Given the description of an element on the screen output the (x, y) to click on. 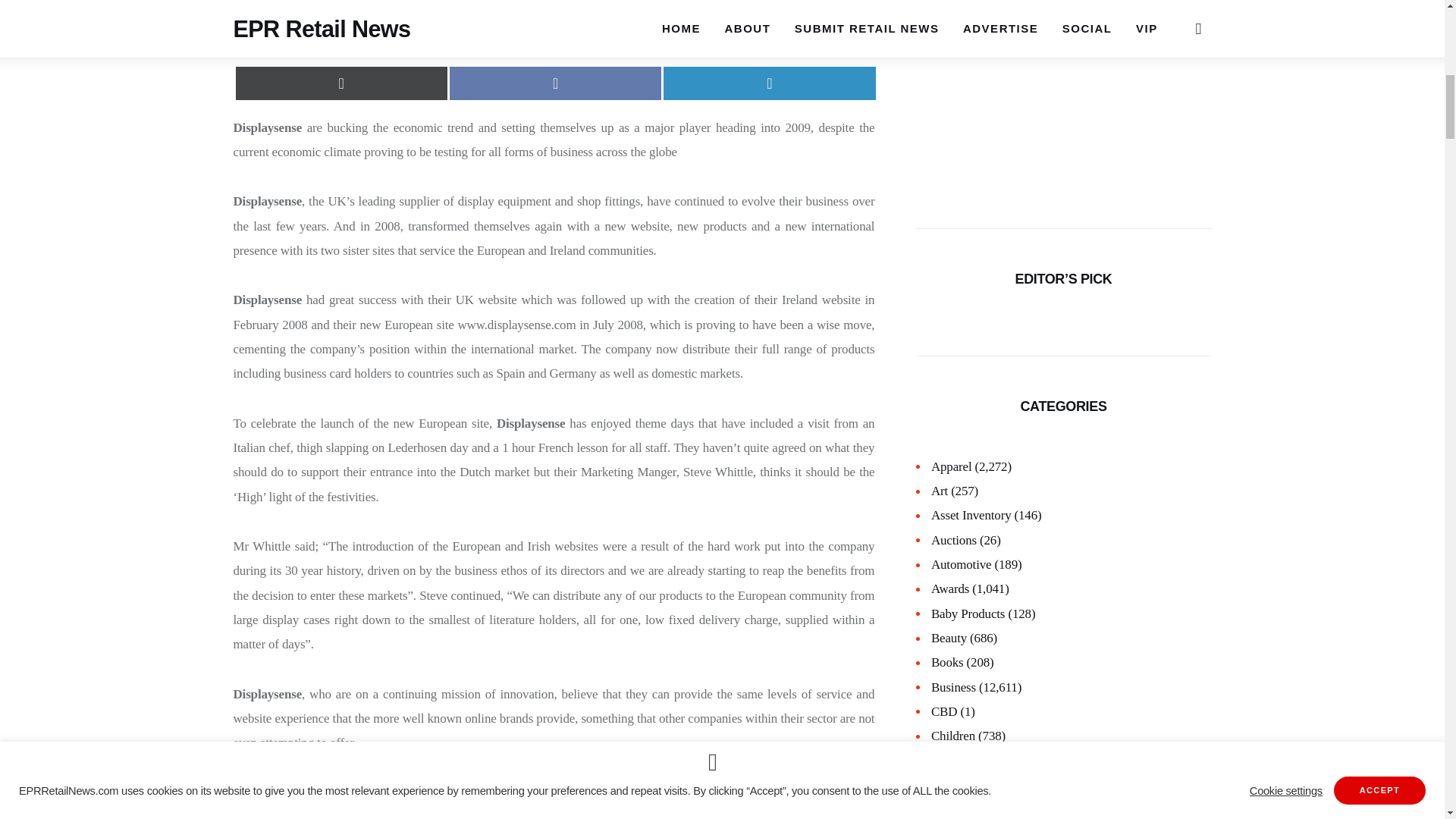
Advertisement (1063, 91)
Advertisement (554, 25)
